Given the description of an element on the screen output the (x, y) to click on. 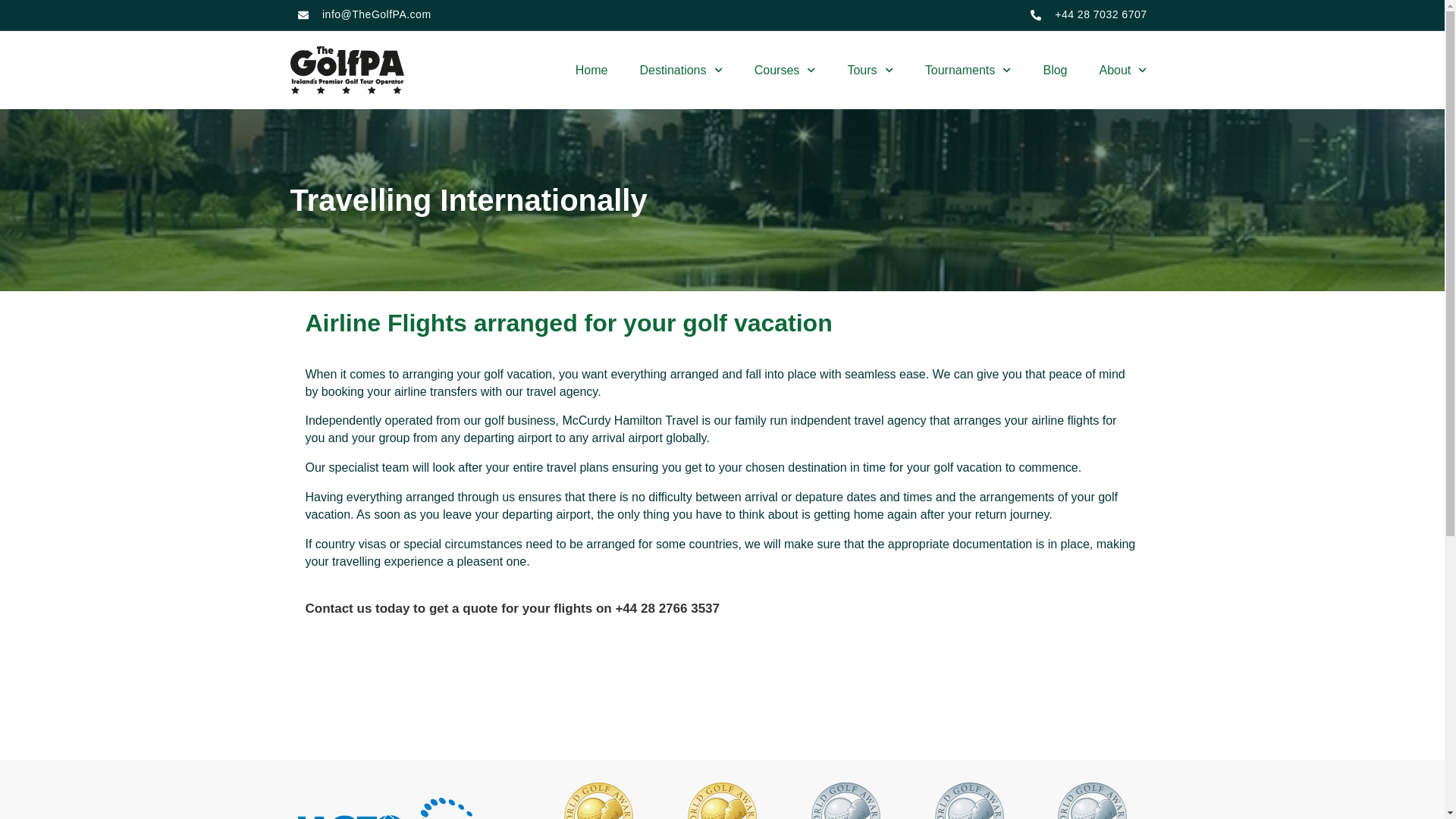
Tours (869, 69)
IAGTO Logo Two Line PNG (351, 816)
Destinations (680, 69)
Home (591, 69)
Courses (784, 69)
